Given the description of an element on the screen output the (x, y) to click on. 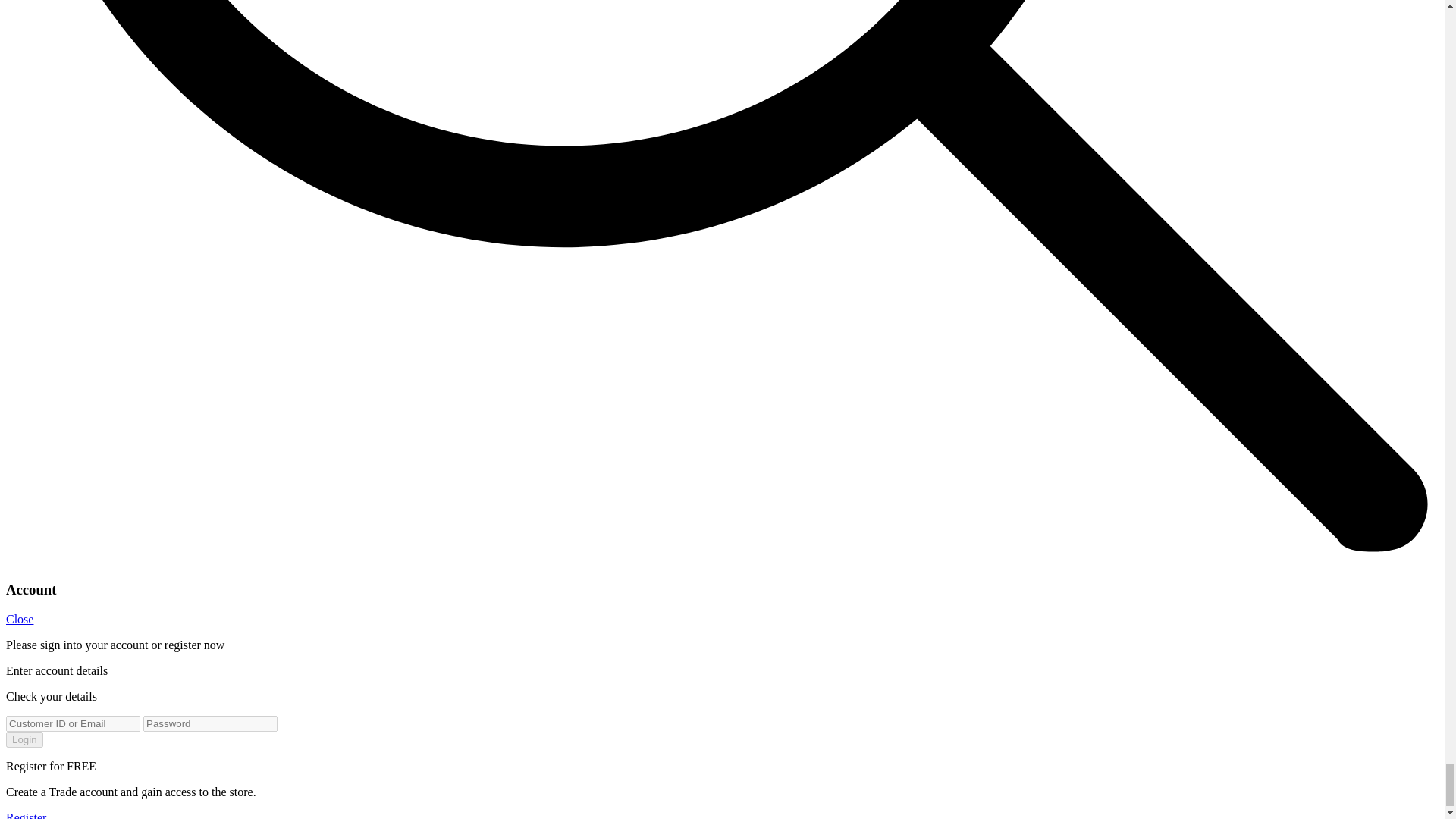
Login (24, 739)
